Given the description of an element on the screen output the (x, y) to click on. 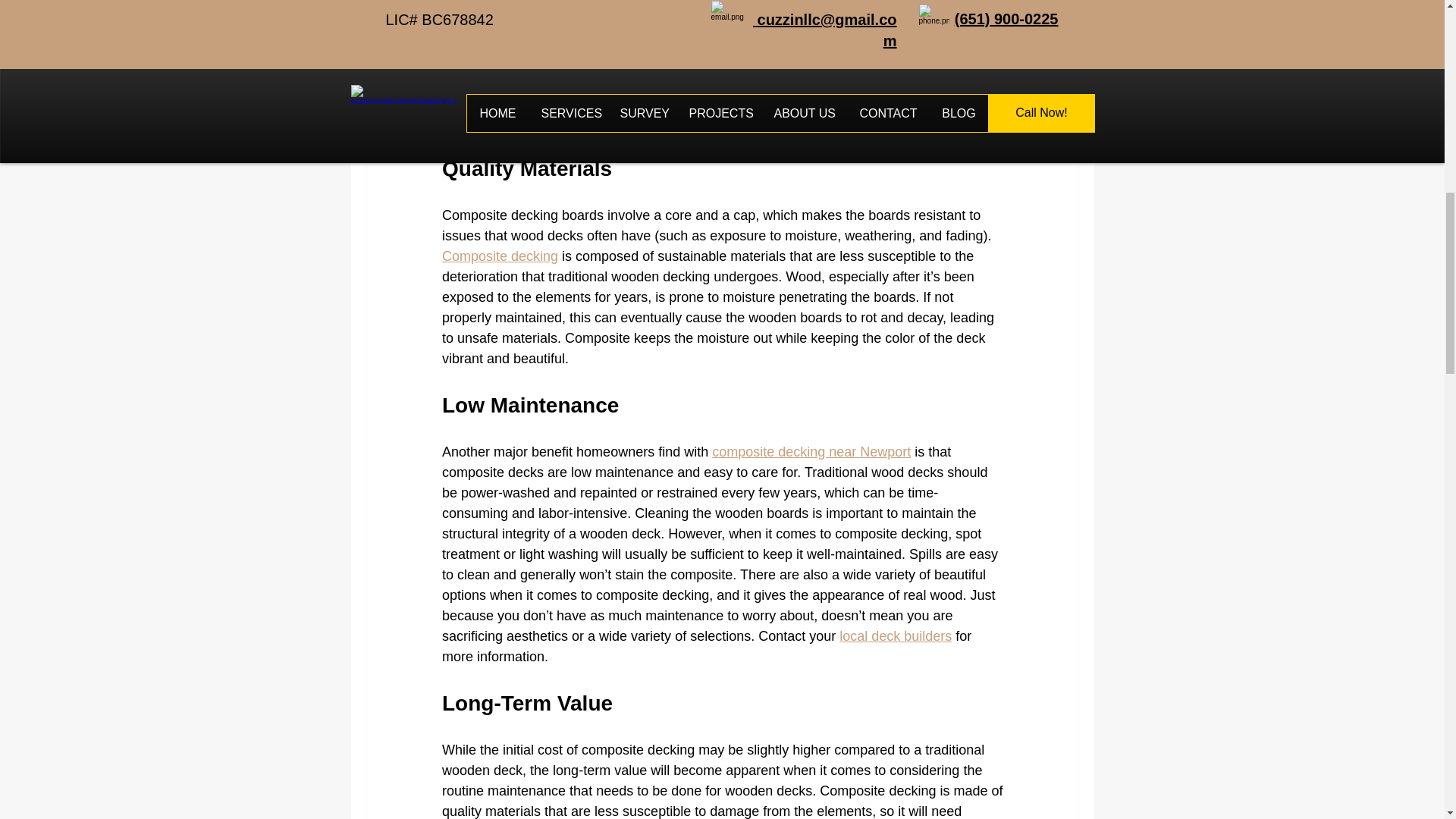
local deck builders (896, 635)
composite decking near Newport (811, 451)
Composite decking (499, 255)
